Given the description of an element on the screen output the (x, y) to click on. 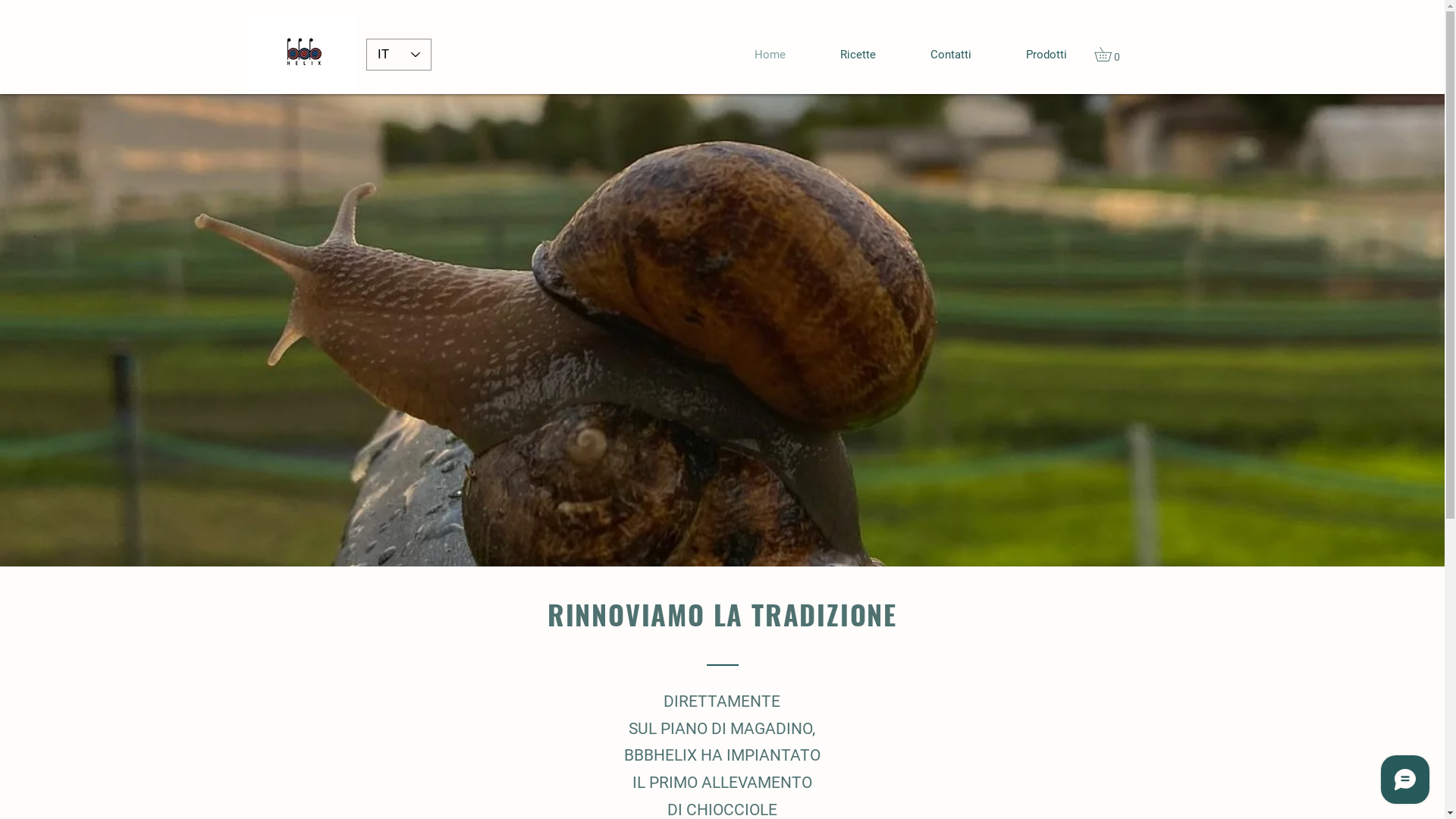
0 Element type: text (1108, 54)
Contatti Element type: text (949, 54)
Home Element type: text (769, 54)
Prodotti Element type: text (1045, 54)
Ricette Element type: text (857, 54)
